Given the description of an element on the screen output the (x, y) to click on. 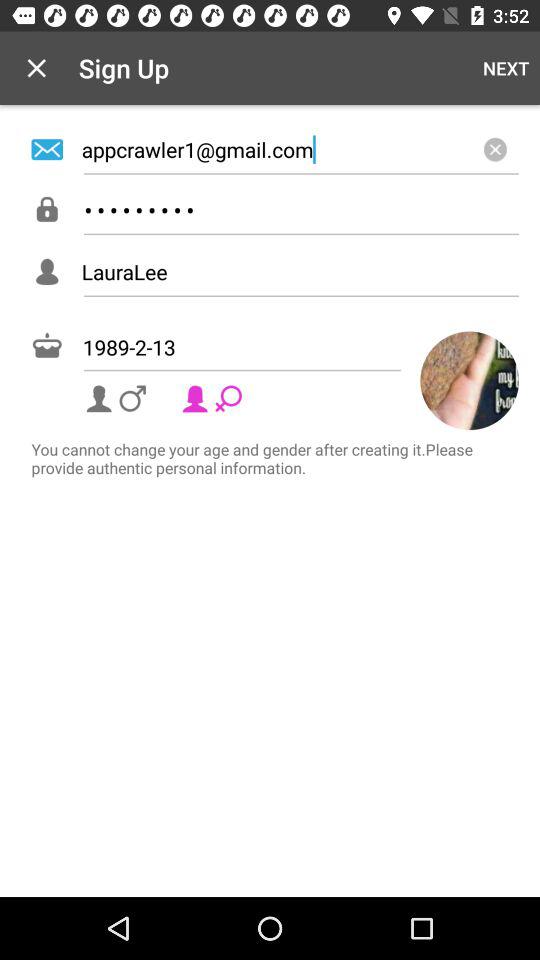
flip to 1989-2-13 item (275, 347)
